Given the description of an element on the screen output the (x, y) to click on. 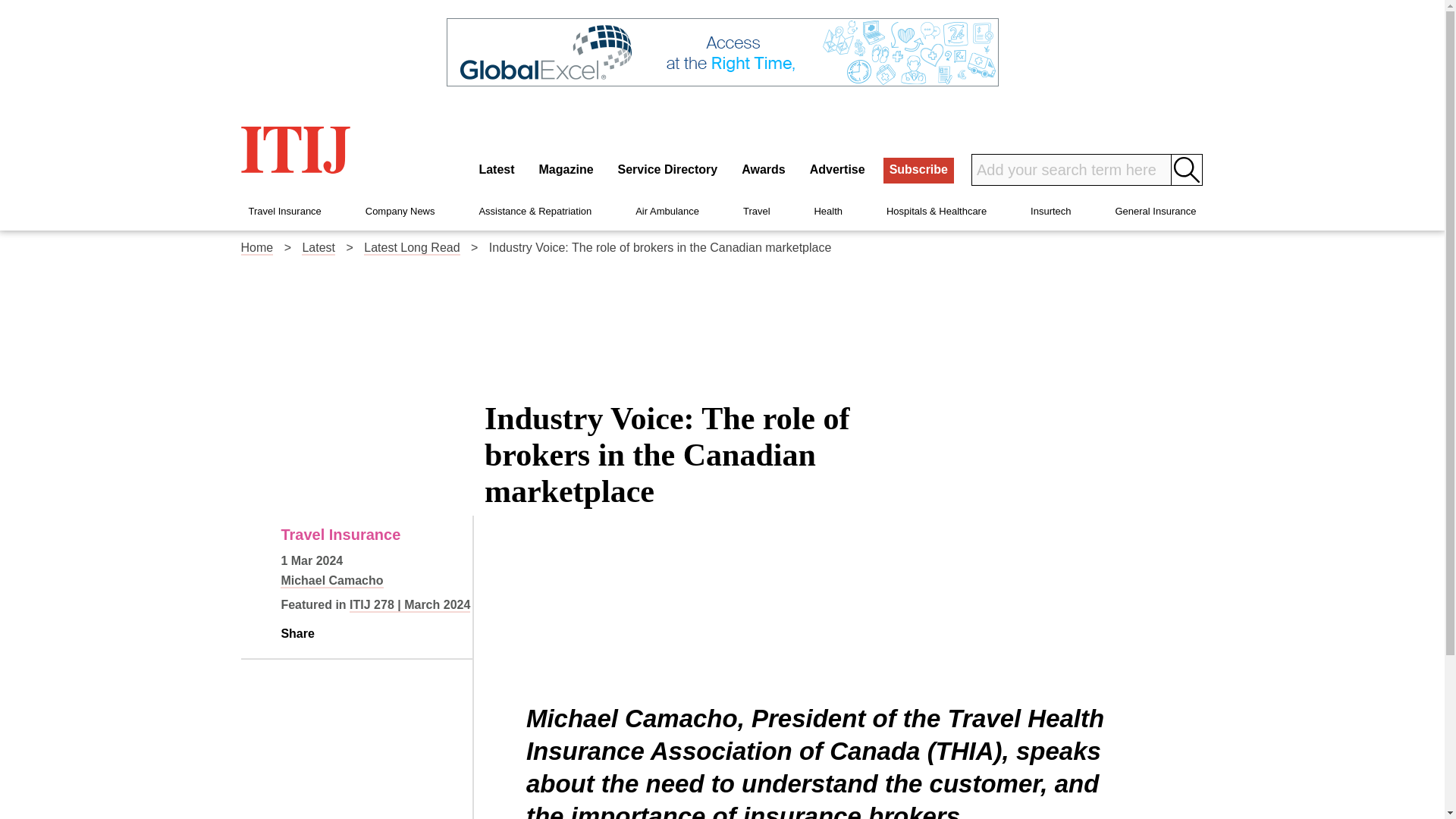
Health (828, 211)
Travel (756, 211)
Latest (317, 247)
Home (257, 247)
Company News (400, 211)
Travel Insurance (285, 211)
Latest (495, 170)
Advertise (836, 170)
Magazine (565, 170)
View information about this author (331, 581)
